Given the description of an element on the screen output the (x, y) to click on. 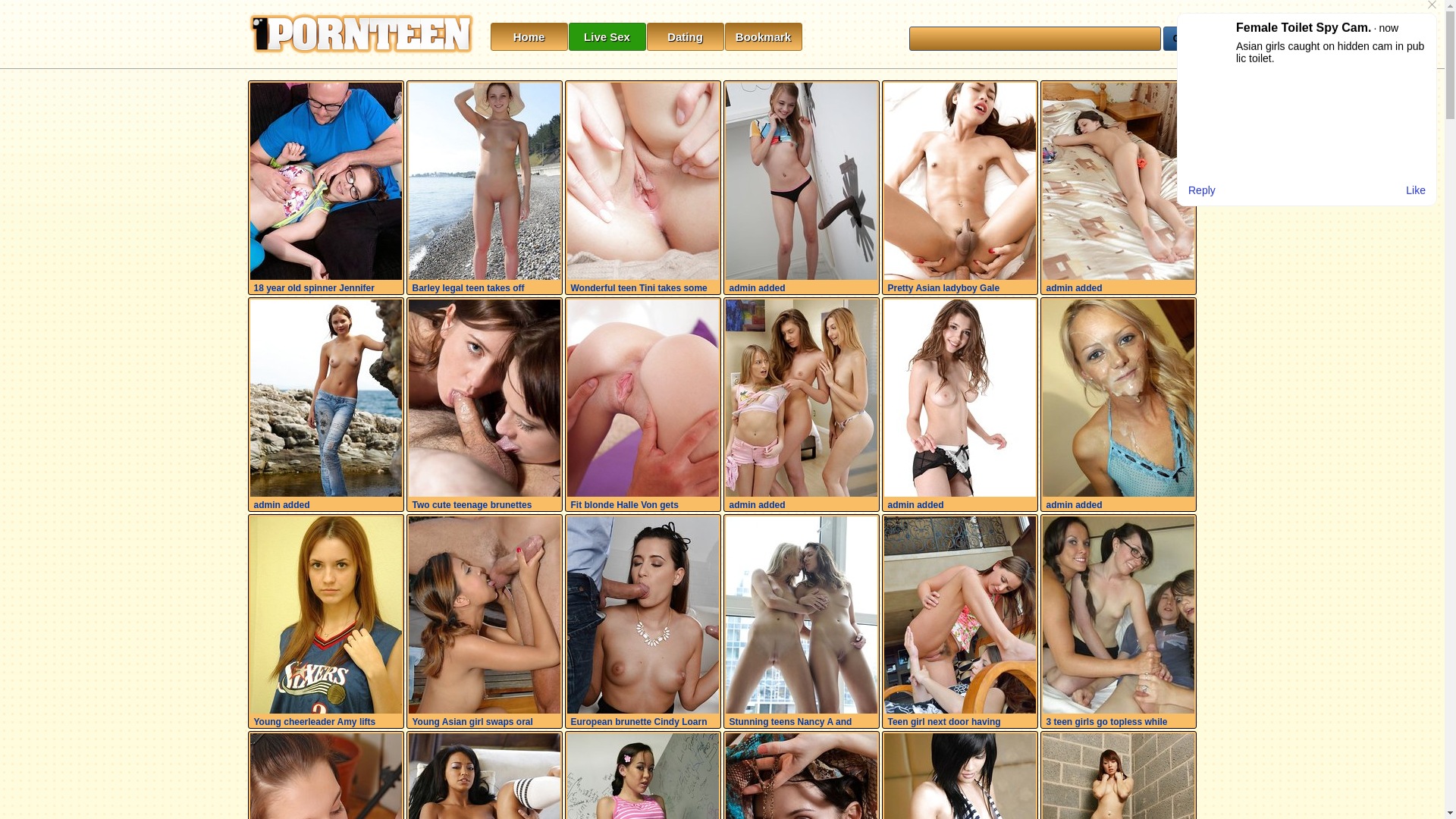
GO Element type: text (1180, 38)
Dating Element type: text (684, 36)
Bookmark Element type: text (763, 36)
Home Element type: text (528, 36)
Live Sex Element type: text (607, 36)
